Given the description of an element on the screen output the (x, y) to click on. 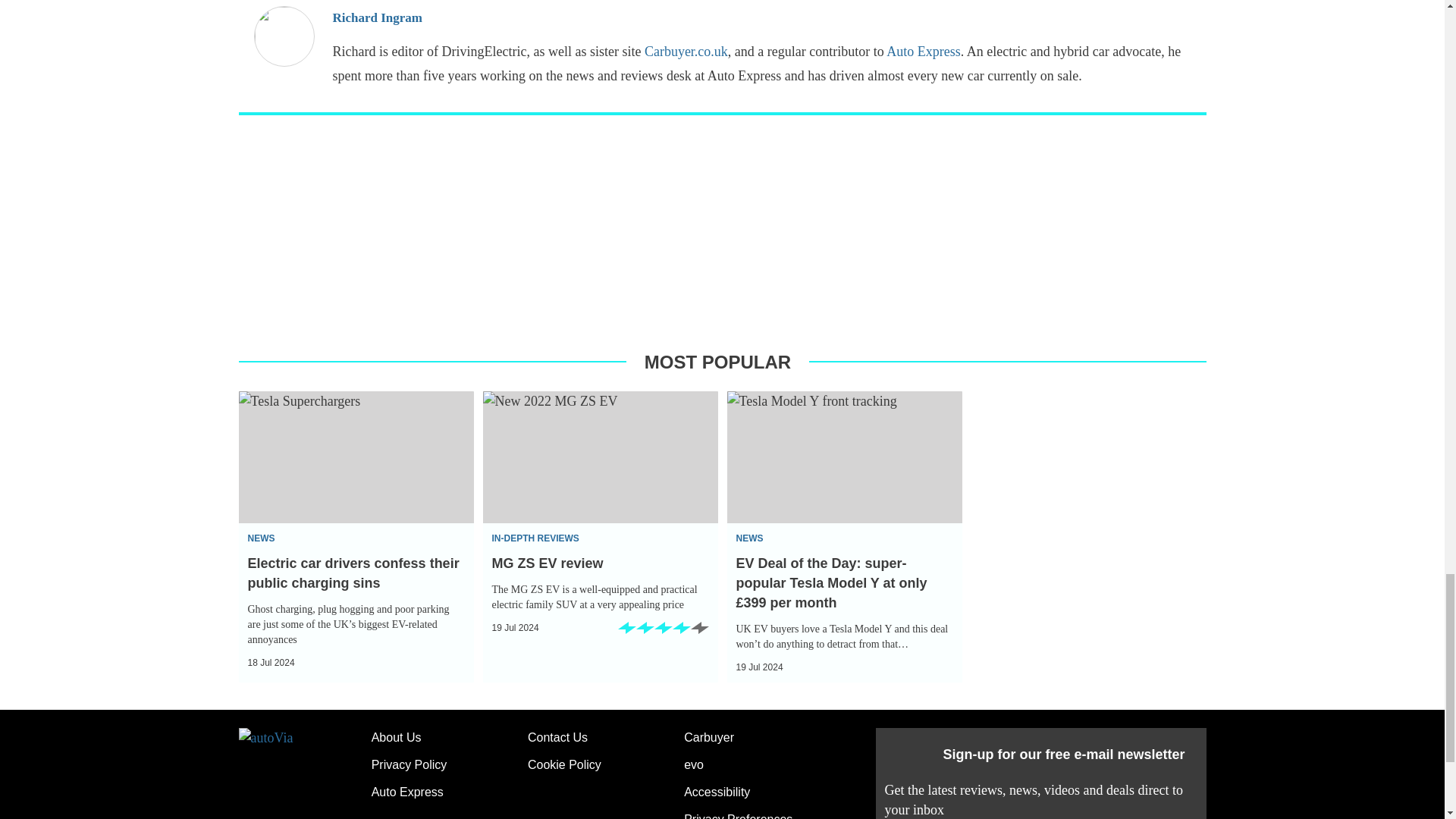
4 Stars (662, 632)
